Given the description of an element on the screen output the (x, y) to click on. 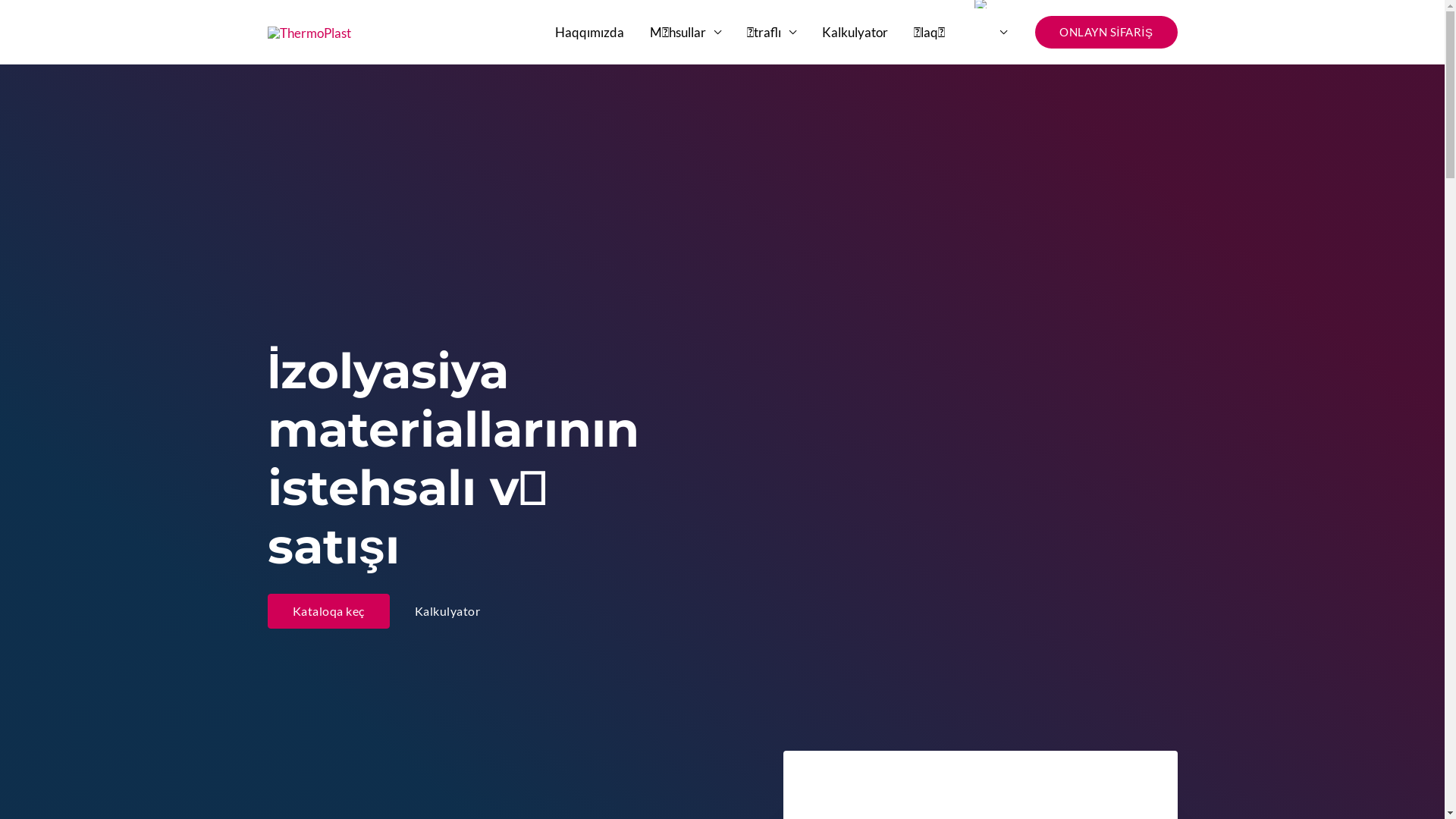
Kalkulyator Element type: text (447, 611)
Kalkulyator Element type: text (854, 32)
